Given the description of an element on the screen output the (x, y) to click on. 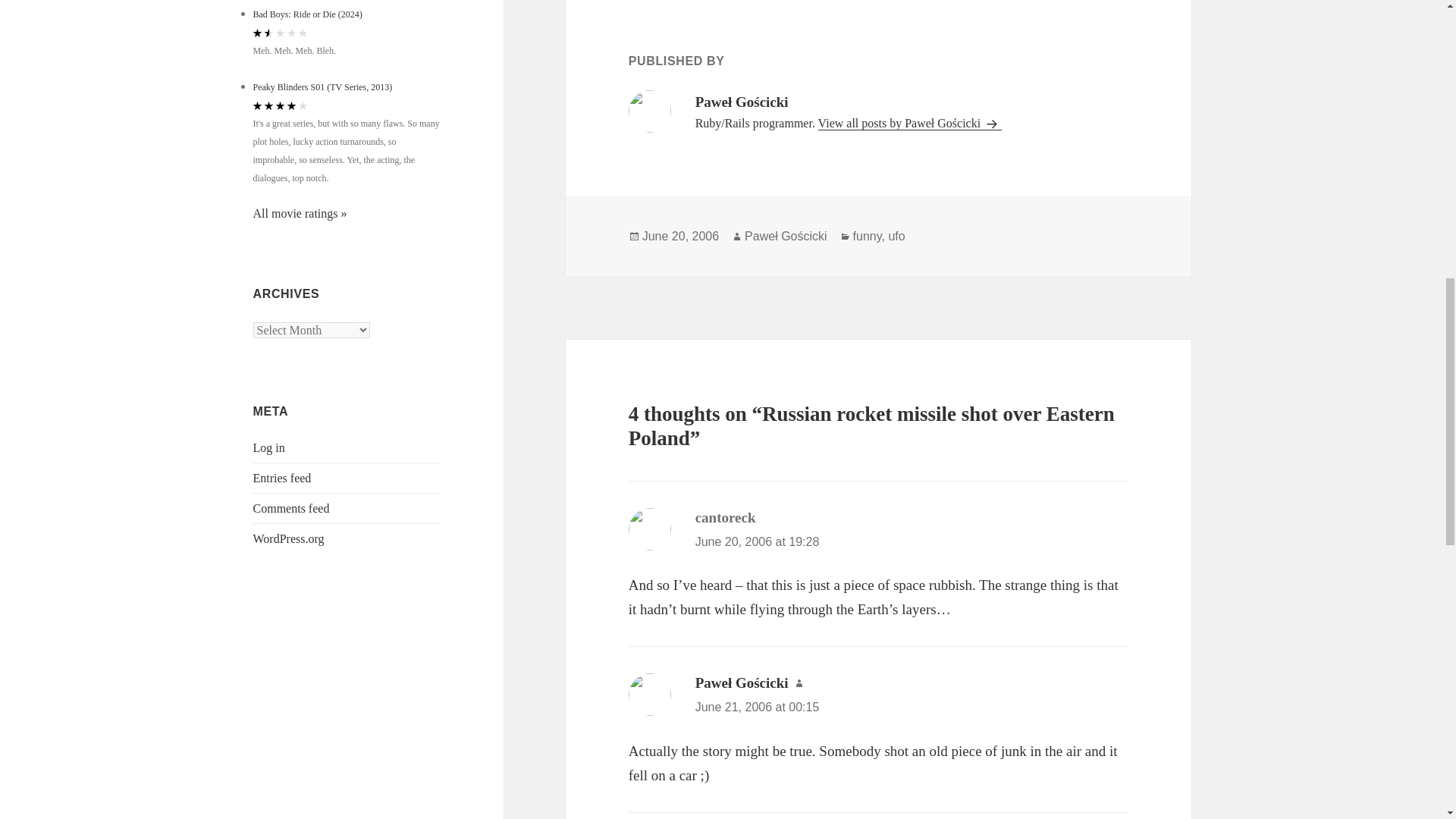
June 20, 2006 at 19:28 (757, 541)
June 20, 2006 (680, 236)
funny (867, 236)
WordPress.org (288, 538)
Comments feed (291, 508)
ufo (896, 236)
Entries feed (282, 477)
Log in (269, 447)
June 21, 2006 at 00:15 (757, 707)
